Given the description of an element on the screen output the (x, y) to click on. 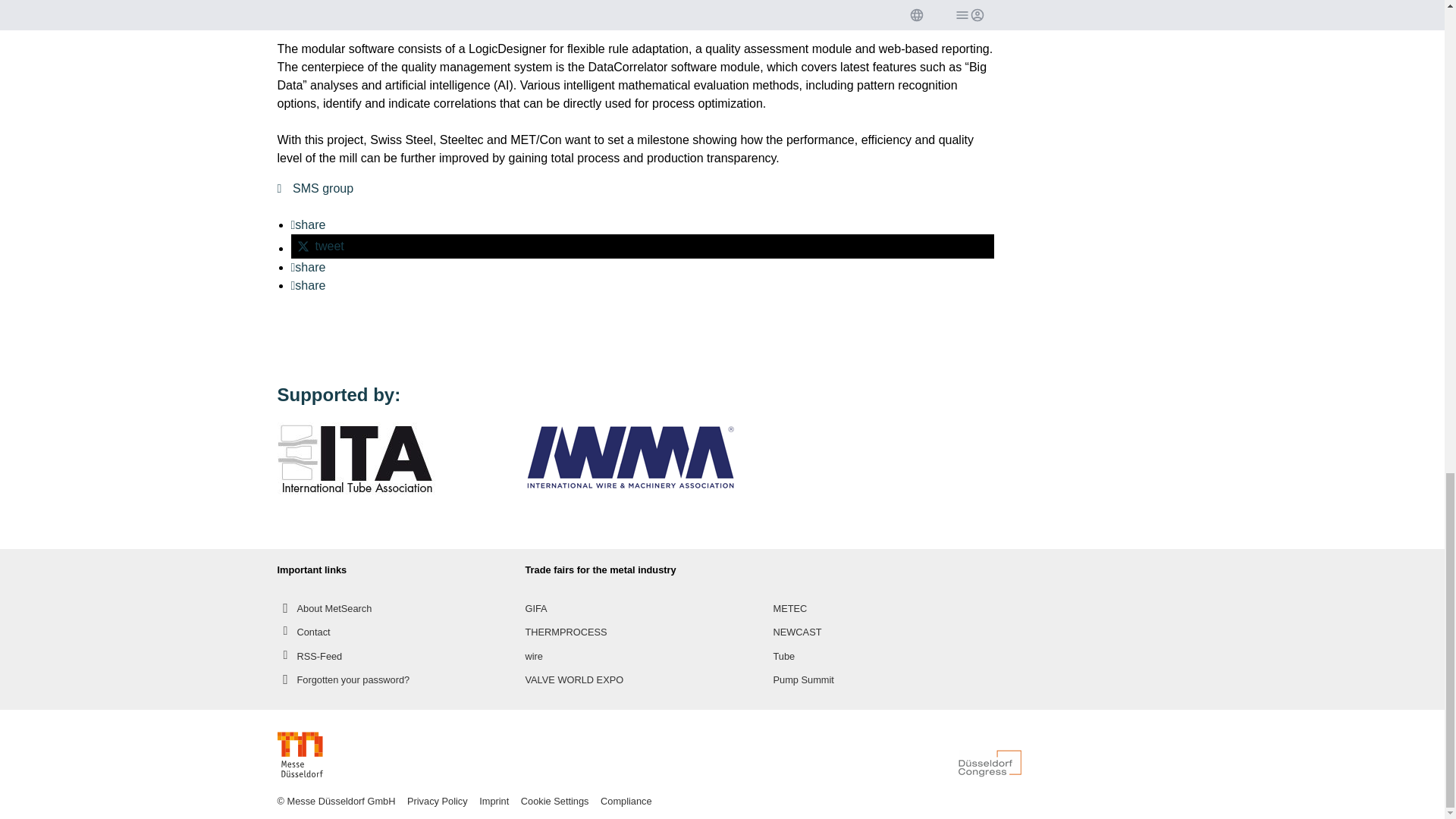
Imprint (495, 800)
Forgotten your password? (344, 679)
Share on Twitter (642, 246)
share (308, 285)
Tube (783, 656)
SMS group (315, 188)
VALVE WORLD EXPO (573, 679)
Share on LinkedIn (308, 267)
share (308, 267)
Contact (304, 631)
